Given the description of an element on the screen output the (x, y) to click on. 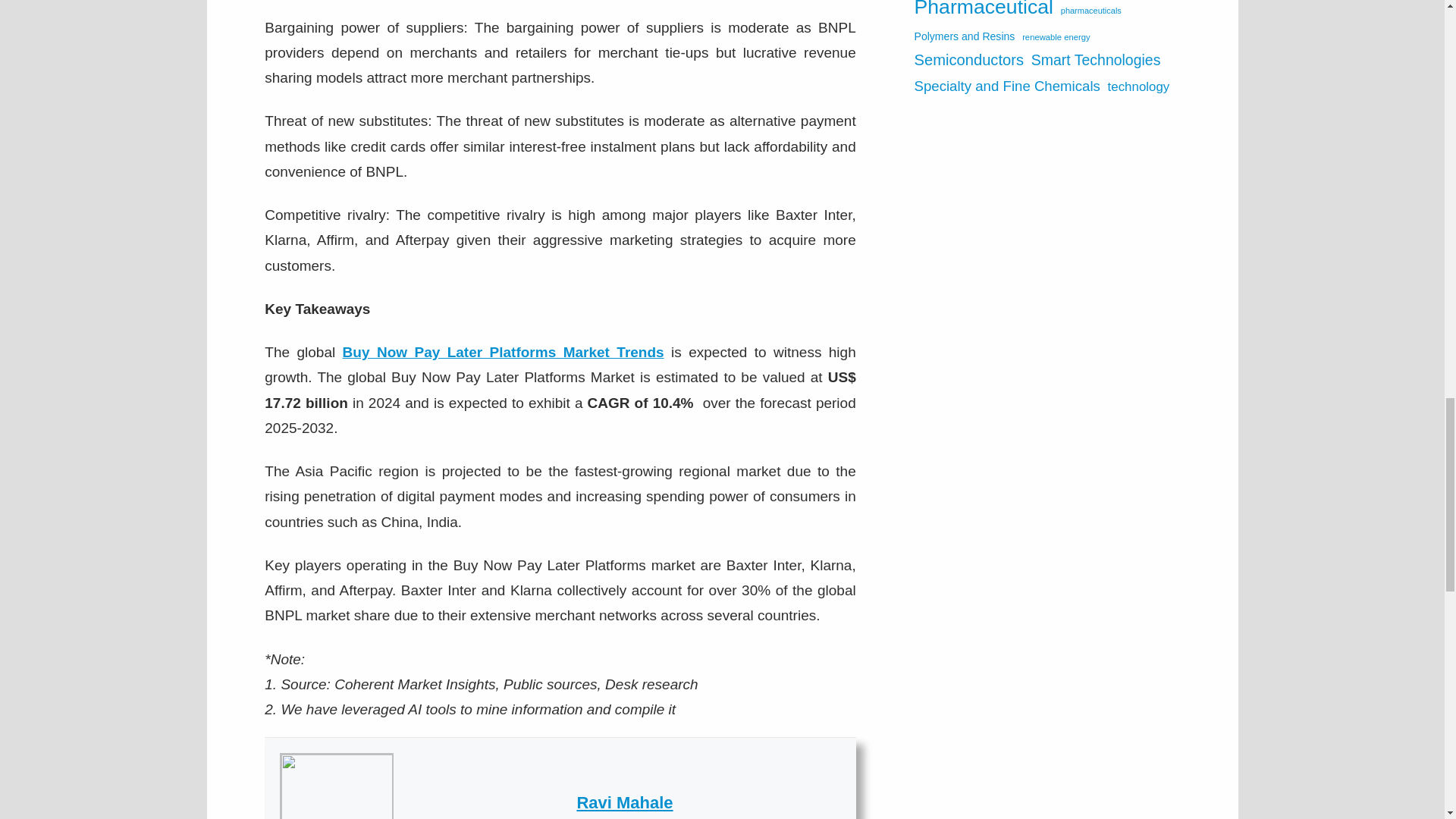
Ravi Mahale (624, 802)
Buy Now Pay Later Platforms Market Trends (502, 351)
